Given the description of an element on the screen output the (x, y) to click on. 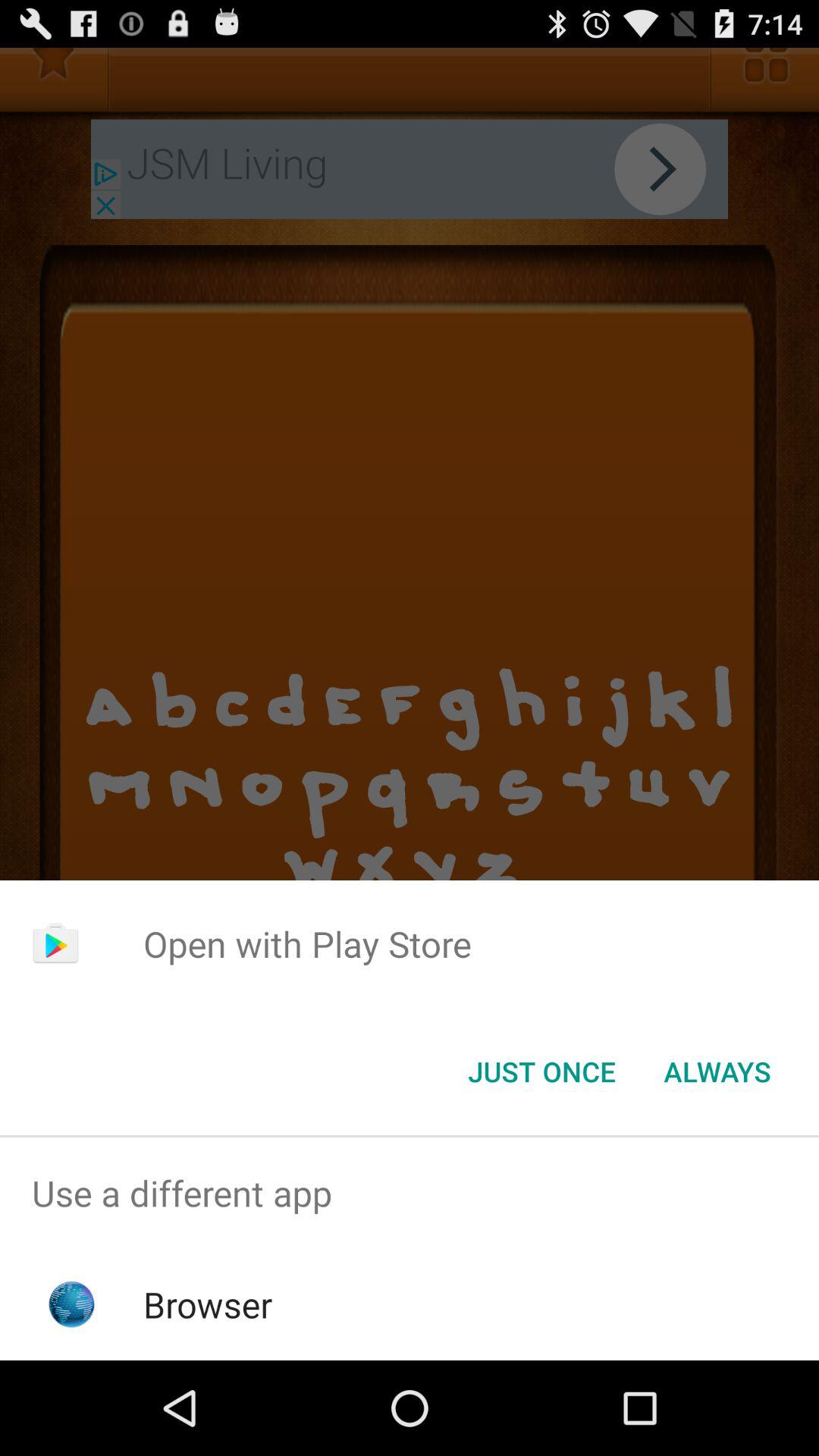
choose the icon next to the always item (541, 1071)
